Given the description of an element on the screen output the (x, y) to click on. 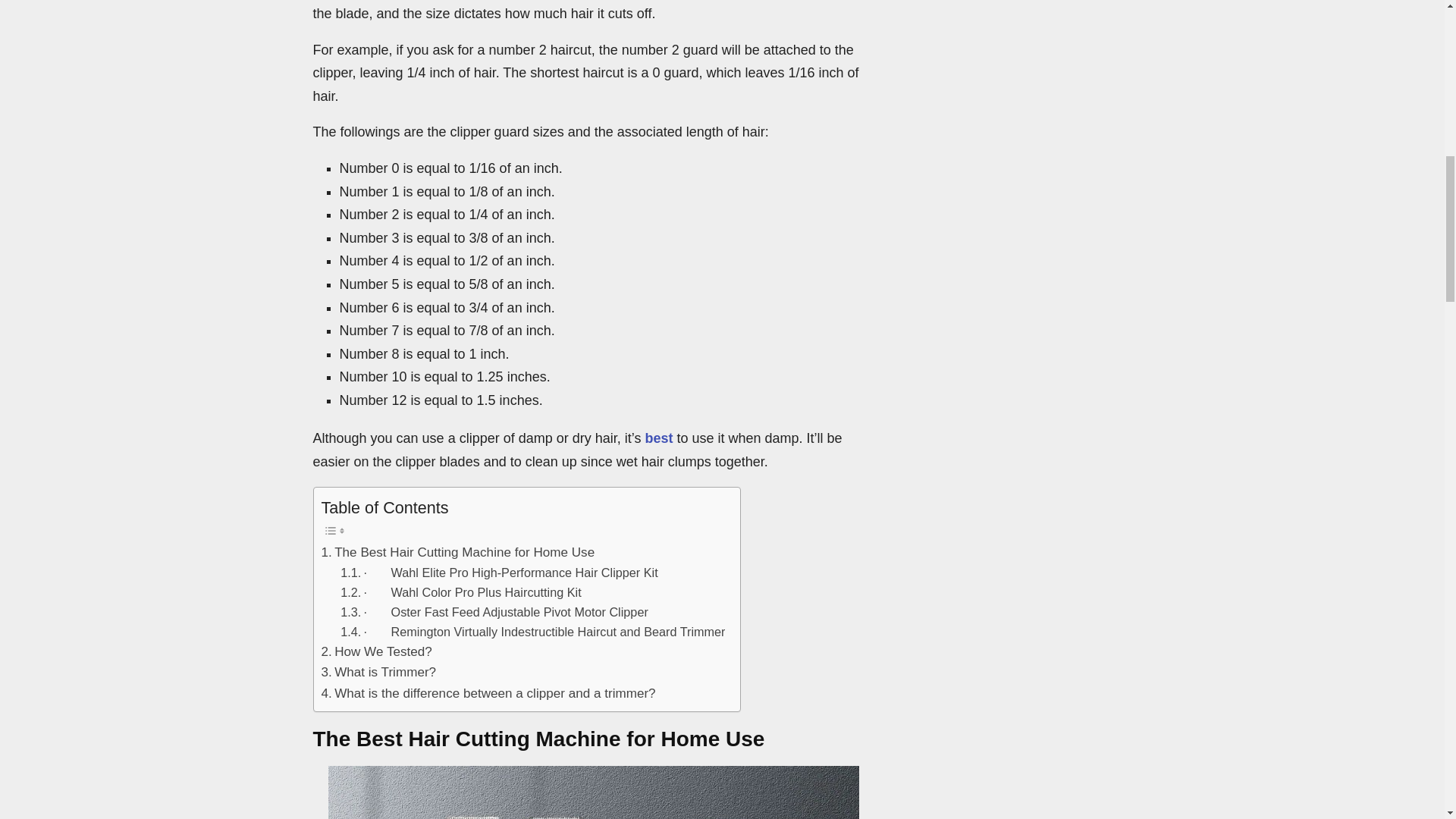
What is Trimmer? (378, 671)
best (658, 437)
How We Tested? (376, 651)
What is the difference between a clipper and a trimmer? (488, 693)
The Best Hair Cutting Machine for Home Use (458, 552)
How We Tested? (376, 651)
The Best Hair Cutting Machine for Home Use (458, 552)
What is Trimmer? (378, 671)
What is the difference between a clipper and a trimmer? (488, 693)
